Given the description of an element on the screen output the (x, y) to click on. 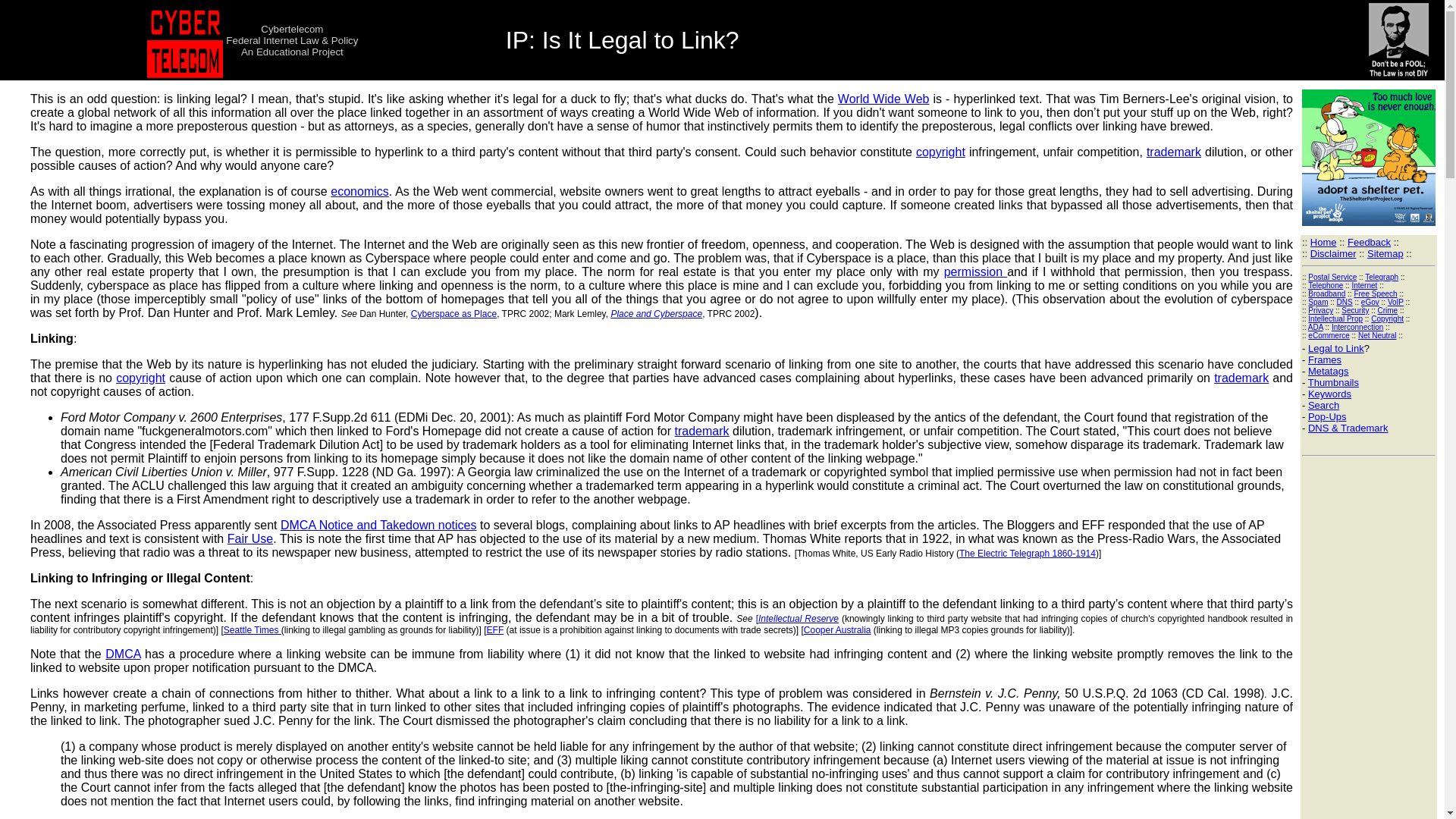
Fair Use (250, 538)
copyright (940, 151)
Cooper Australia (836, 629)
The Electric Telegraph 1860-1914 (1027, 552)
DMCA (121, 653)
Cyberspace as Place (453, 313)
EFF (494, 629)
Place and Cyberspace (655, 313)
economics (359, 191)
Intellectual Reserve (798, 618)
